Given the description of an element on the screen output the (x, y) to click on. 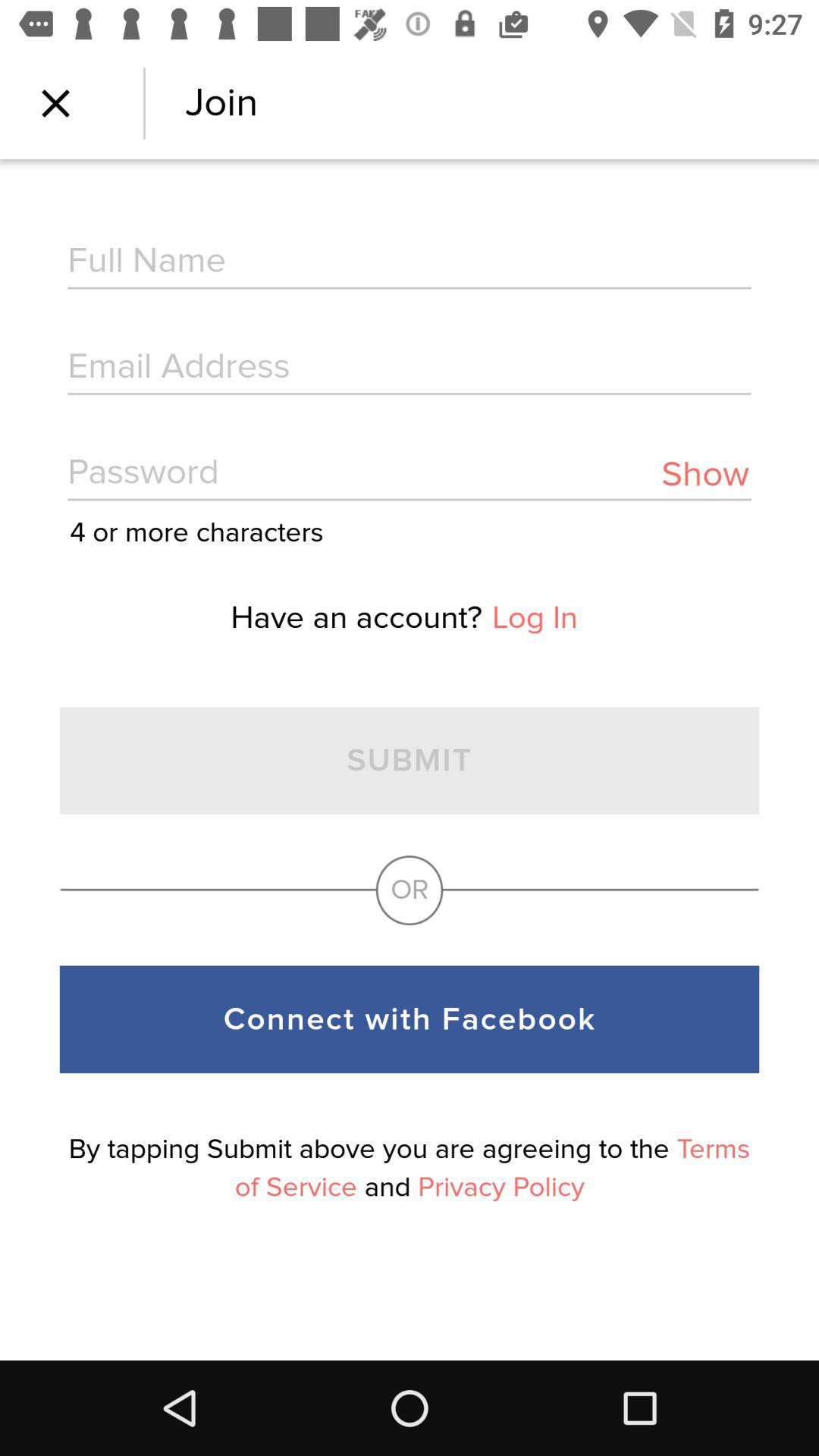
enter the email address (409, 368)
